Given the description of an element on the screen output the (x, y) to click on. 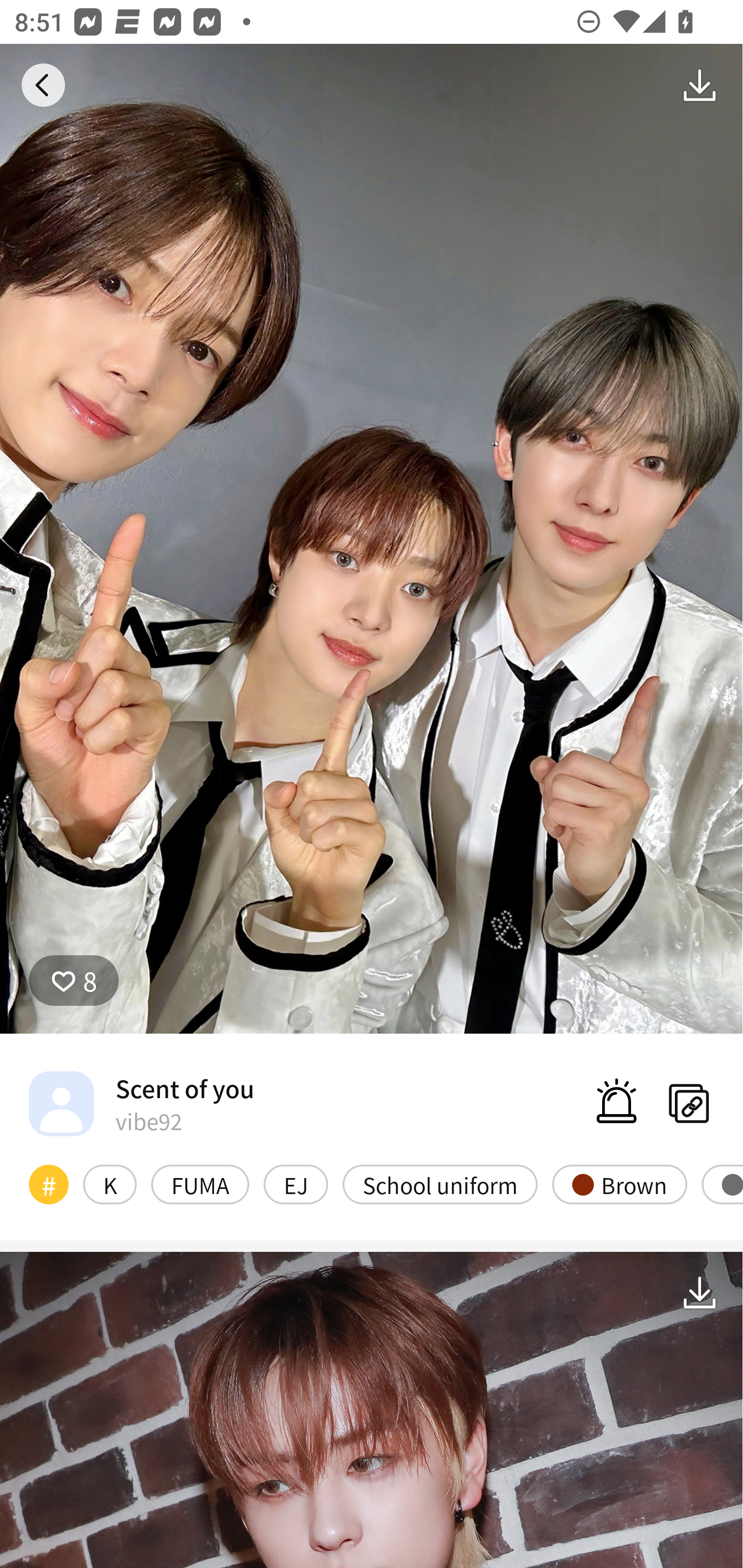
8 (73, 980)
Scent of you vibe92 (141, 1102)
K (109, 1184)
FUMA (199, 1184)
EJ (295, 1184)
School uniform (439, 1184)
Brown (619, 1184)
